Given the description of an element on the screen output the (x, y) to click on. 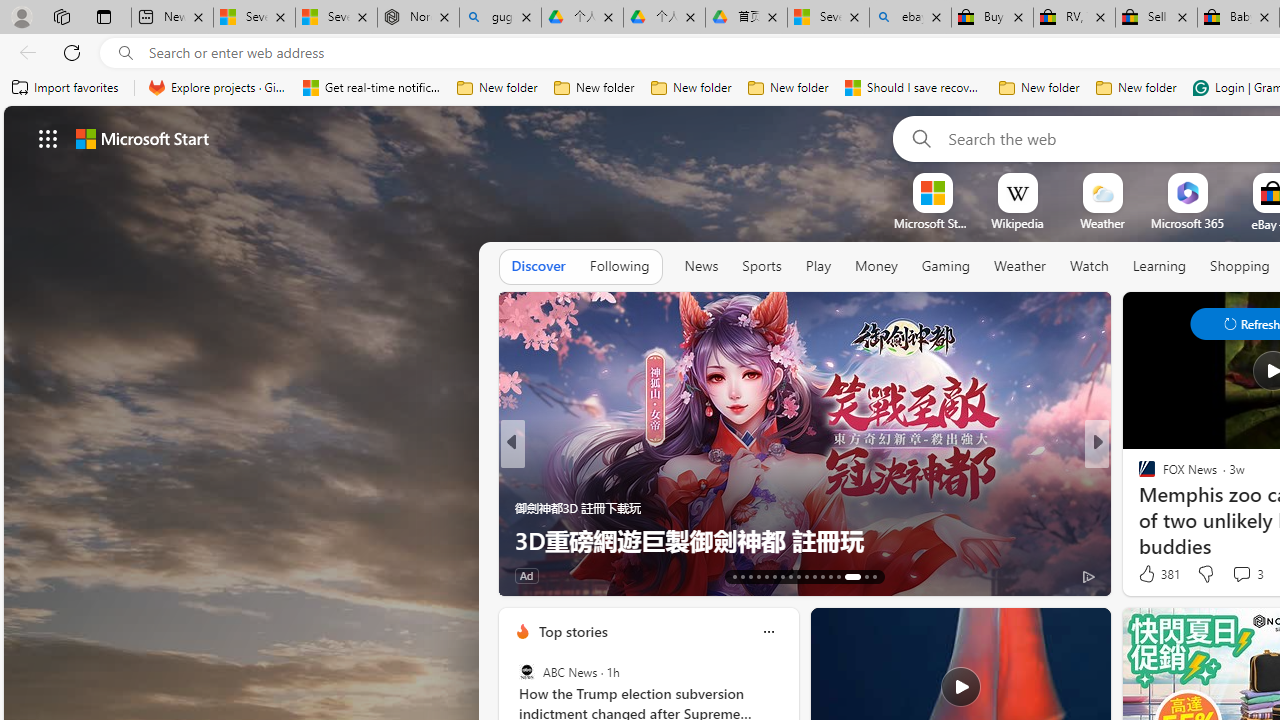
CNN Money (1138, 475)
Forgiveness Is a Journey to Emotional Freedom (804, 539)
Weather (1020, 265)
Watch (1089, 267)
Play (818, 267)
AutomationID: tab-23 (814, 576)
New folder (1136, 88)
View comments 3 Comment (1241, 573)
